Given the description of an element on the screen output the (x, y) to click on. 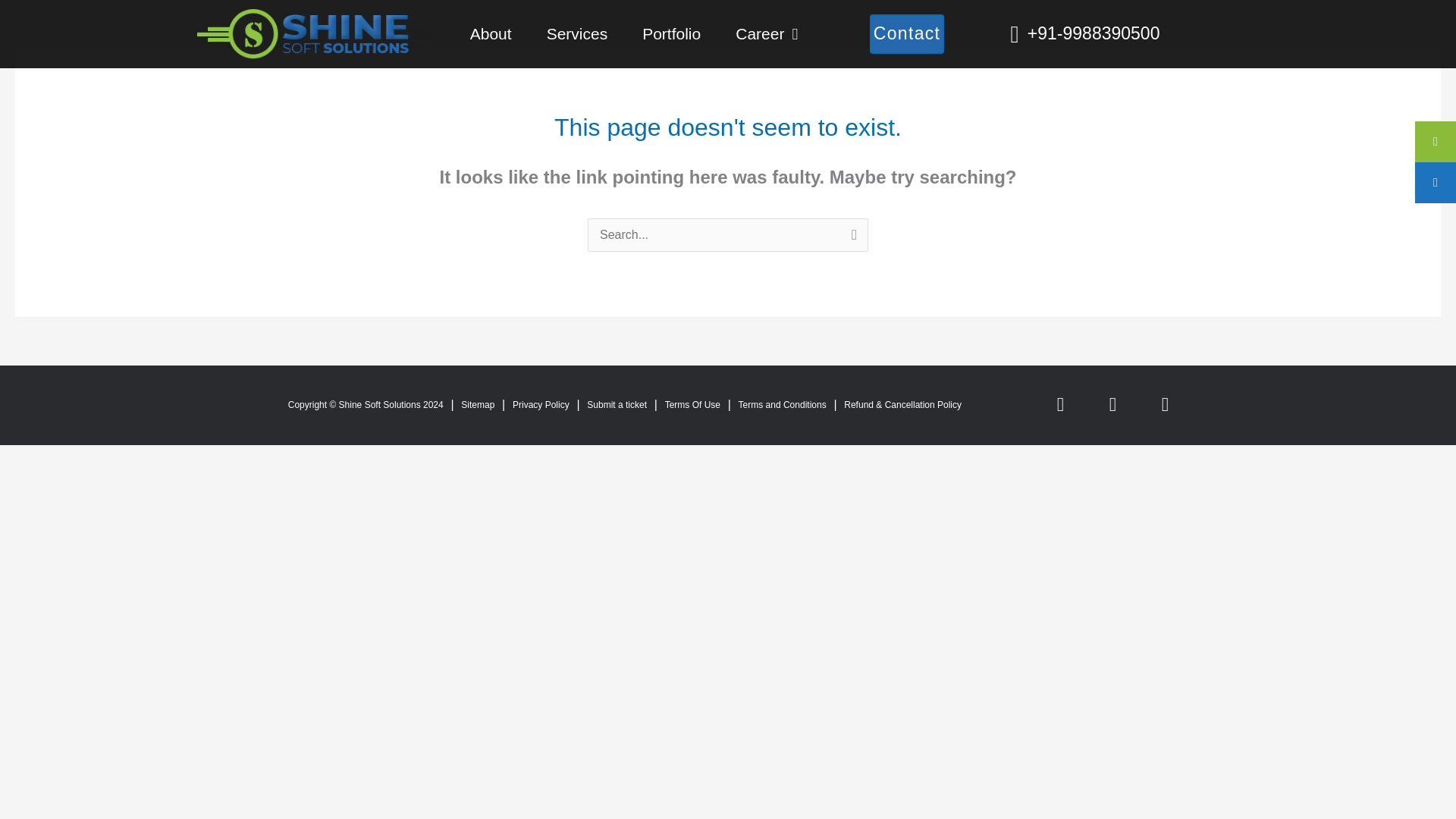
Sitemap (478, 404)
Privacy Policy (540, 404)
About (490, 33)
Submit a ticket (616, 404)
Terms Of Use (692, 404)
Career (766, 33)
Services (577, 33)
Contact (906, 33)
Portfolio (670, 33)
Terms and Conditions (782, 404)
